Given the description of an element on the screen output the (x, y) to click on. 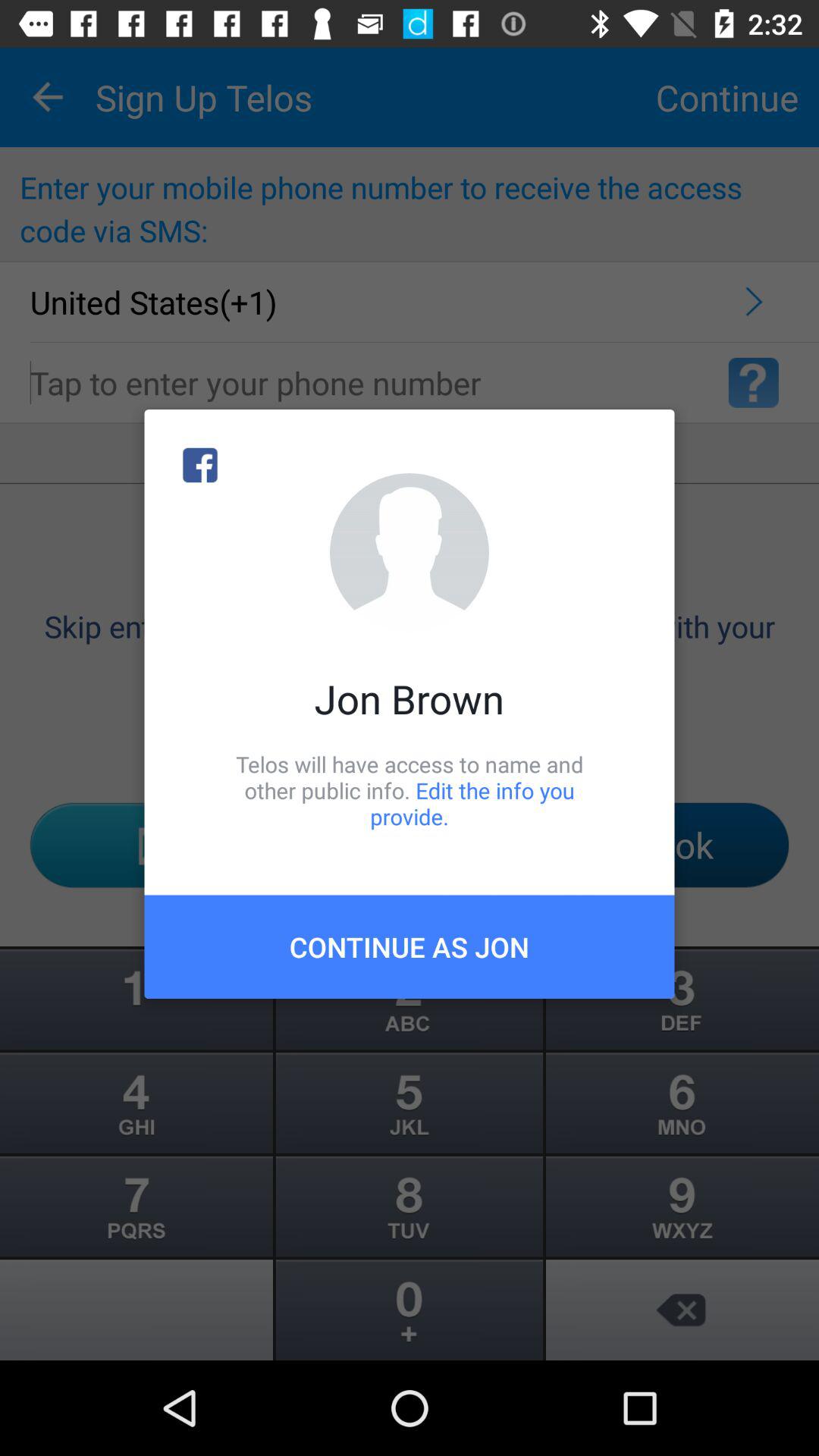
swipe until the telos will have icon (409, 790)
